Given the description of an element on the screen output the (x, y) to click on. 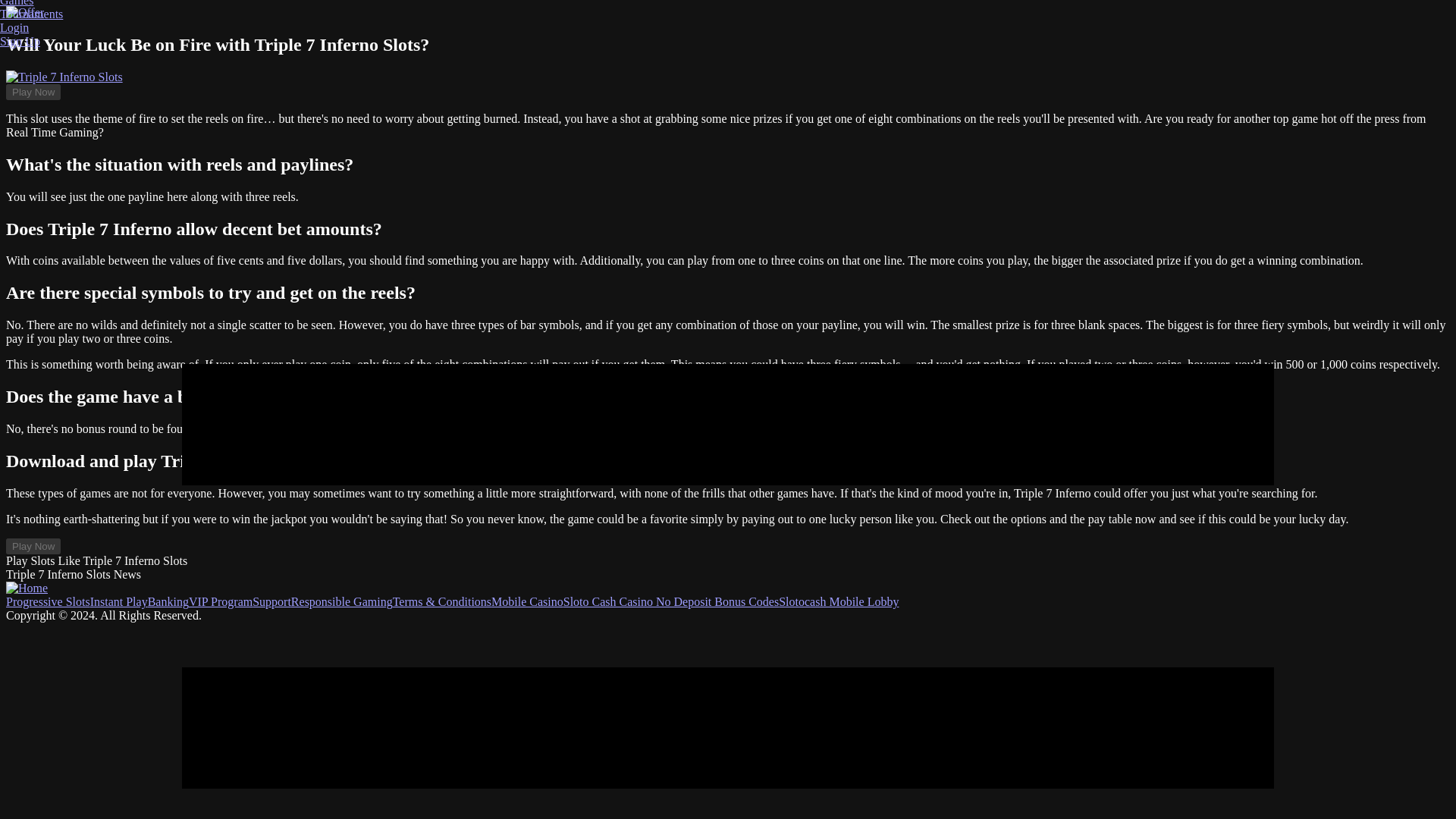
Mobile Casino (527, 601)
Responsible Gaming (342, 601)
Slotocash Mobile Lobby (838, 601)
Banking (168, 601)
Sloto Cash Casino No Deposit Bonus Codes (670, 601)
Instant Play (119, 601)
Play Now (33, 91)
Progressive Slots (47, 601)
VIP Program (220, 601)
Play Now (33, 546)
Support (271, 601)
